Given the description of an element on the screen output the (x, y) to click on. 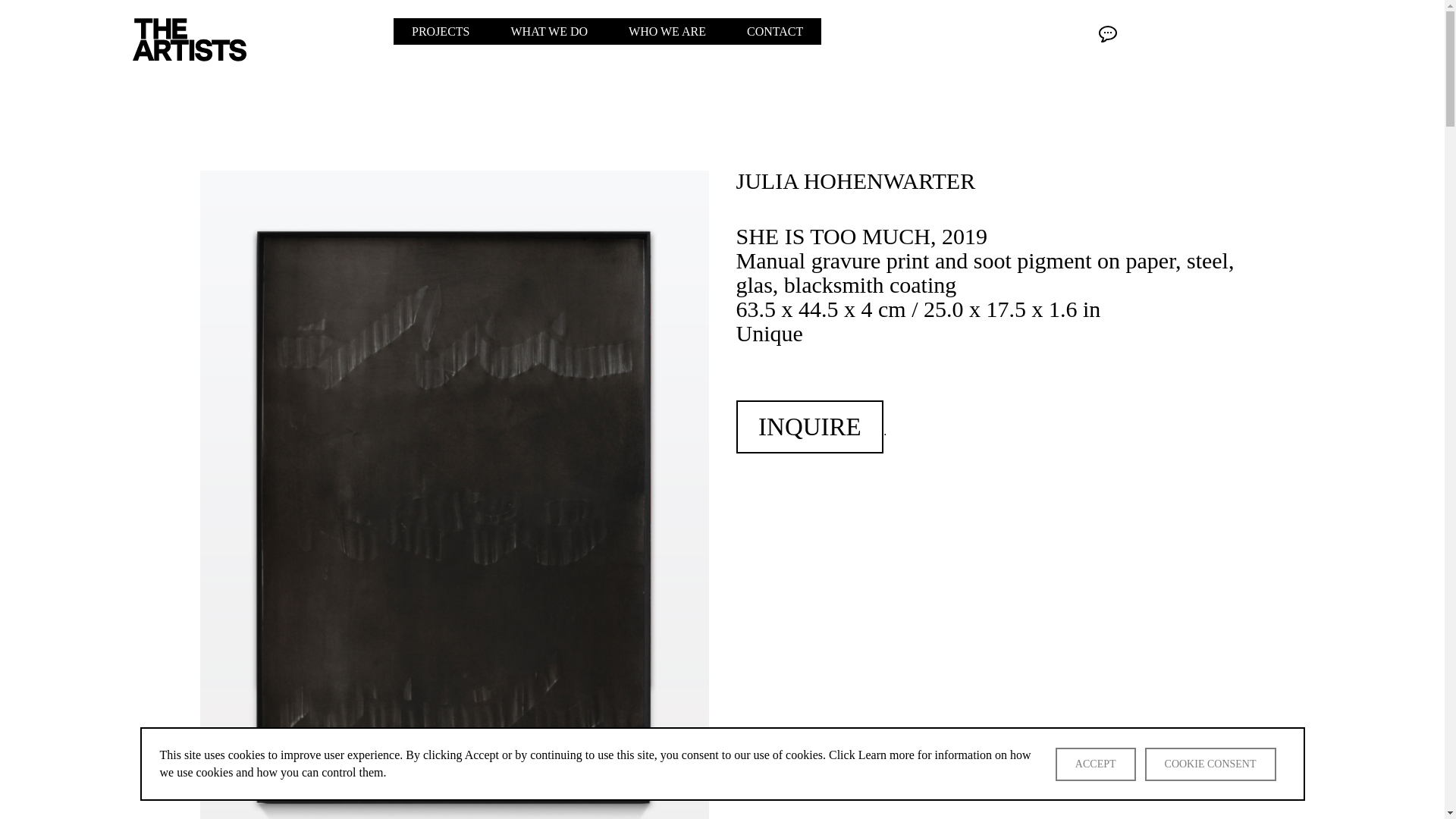
CONTACT (775, 31)
WHAT WE DO (551, 31)
PROJECTS (442, 31)
INQUIRE (809, 426)
WHO WE ARE (669, 31)
